Given the description of an element on the screen output the (x, y) to click on. 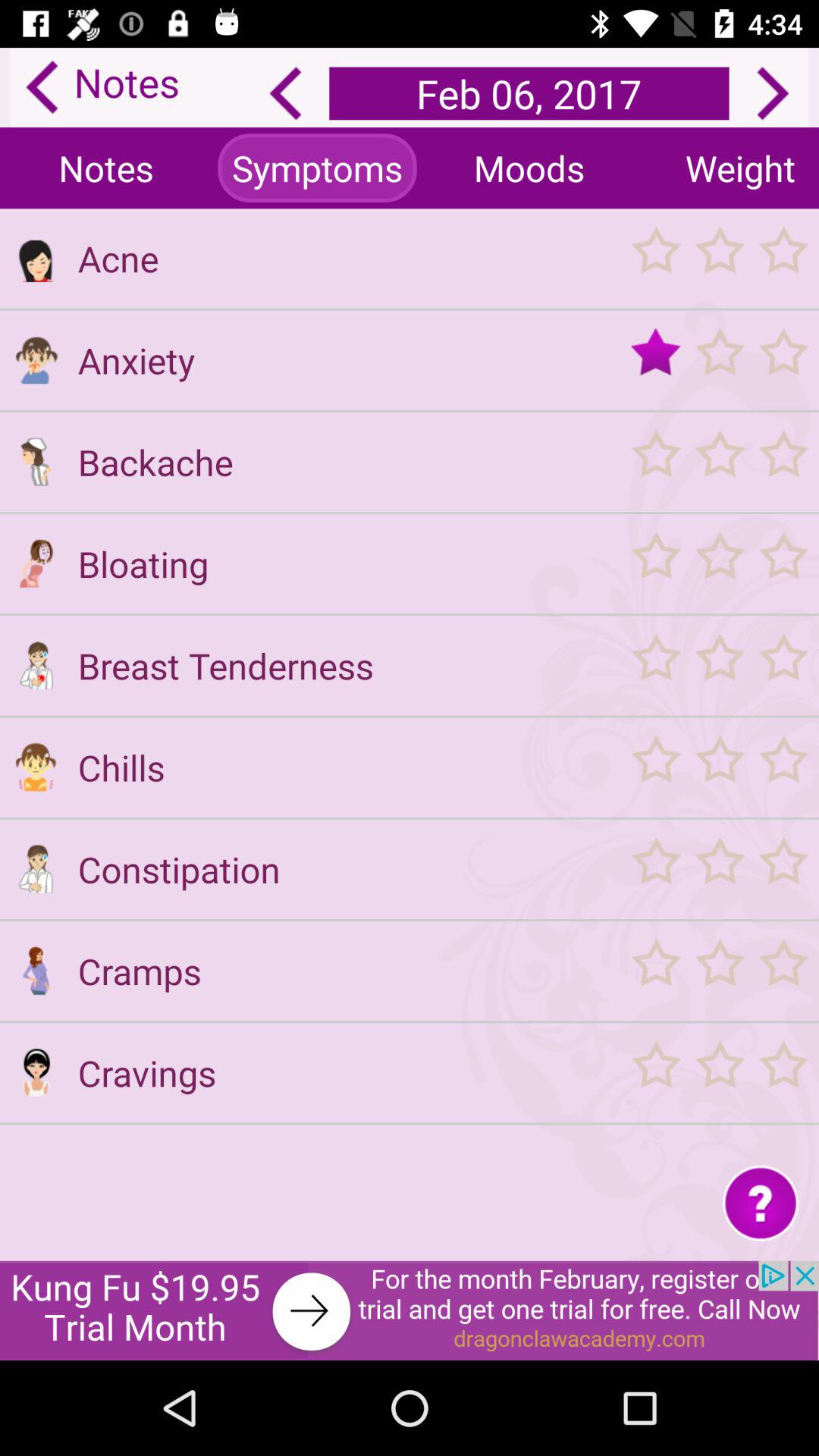
give stars rating (719, 563)
